Given the description of an element on the screen output the (x, y) to click on. 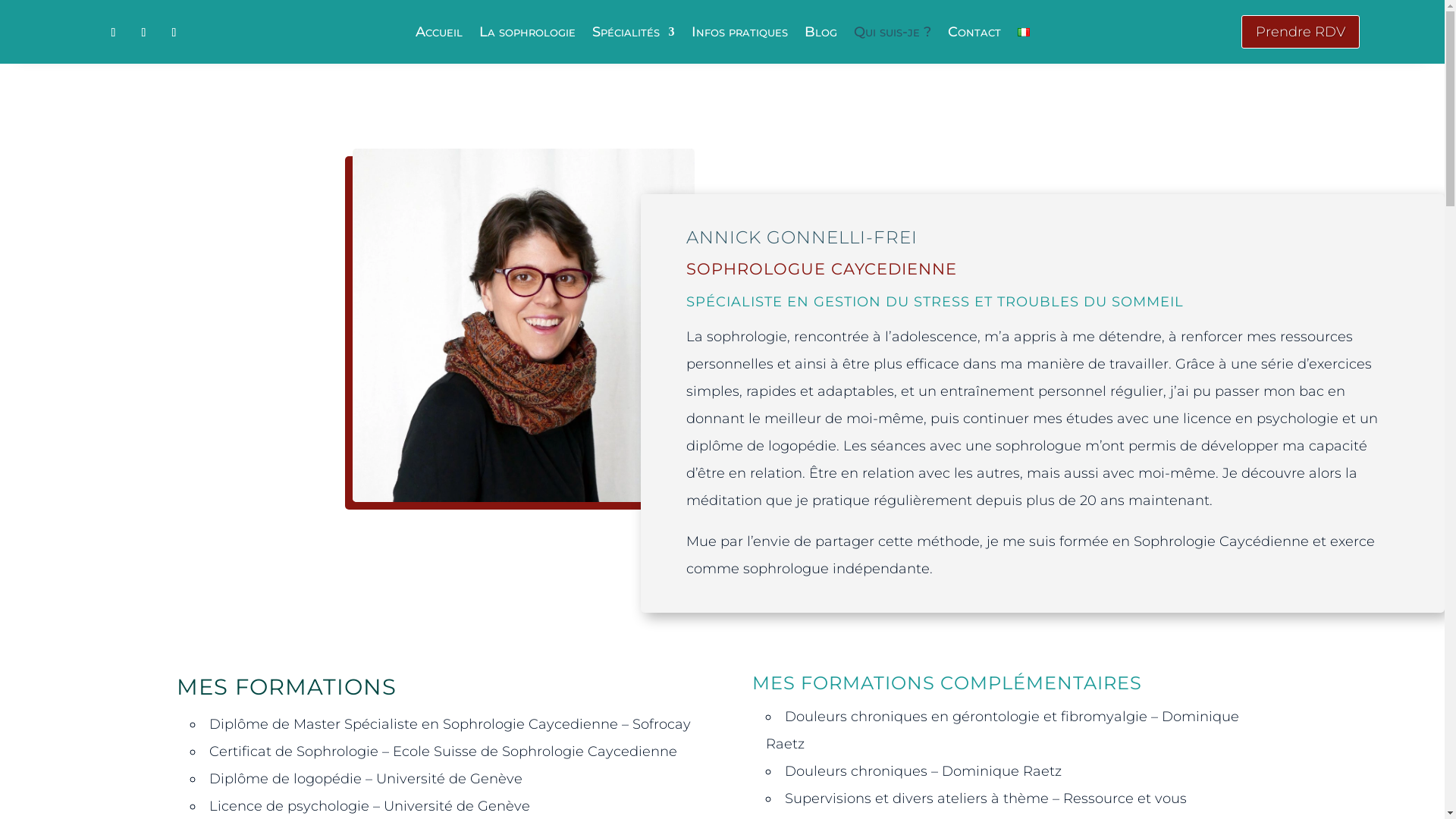
La sophrologie Element type: text (527, 34)
Qui suis-je ? Element type: text (892, 34)
Suivez sur LinkedIn Element type: hover (174, 32)
Suivez sur Facebook Element type: hover (113, 32)
Infos pratiques Element type: text (739, 34)
Blog Element type: text (819, 34)
qui suis-je Element type: hover (523, 325)
Prendre RDV Element type: text (1299, 31)
Accueil Element type: text (438, 34)
Contact Element type: text (974, 34)
Suivez sur Instagram Element type: hover (143, 32)
